Given the description of an element on the screen output the (x, y) to click on. 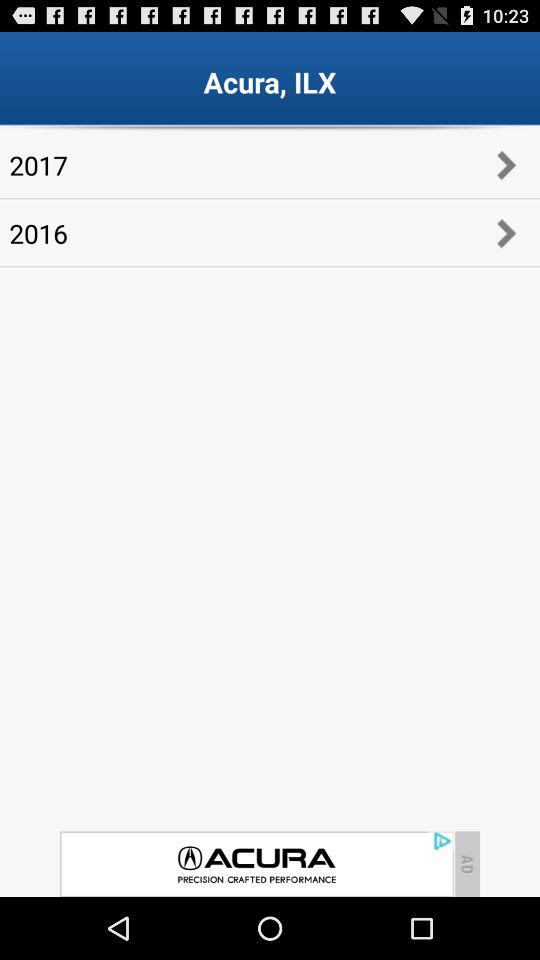
go to advertisement (256, 864)
